Given the description of an element on the screen output the (x, y) to click on. 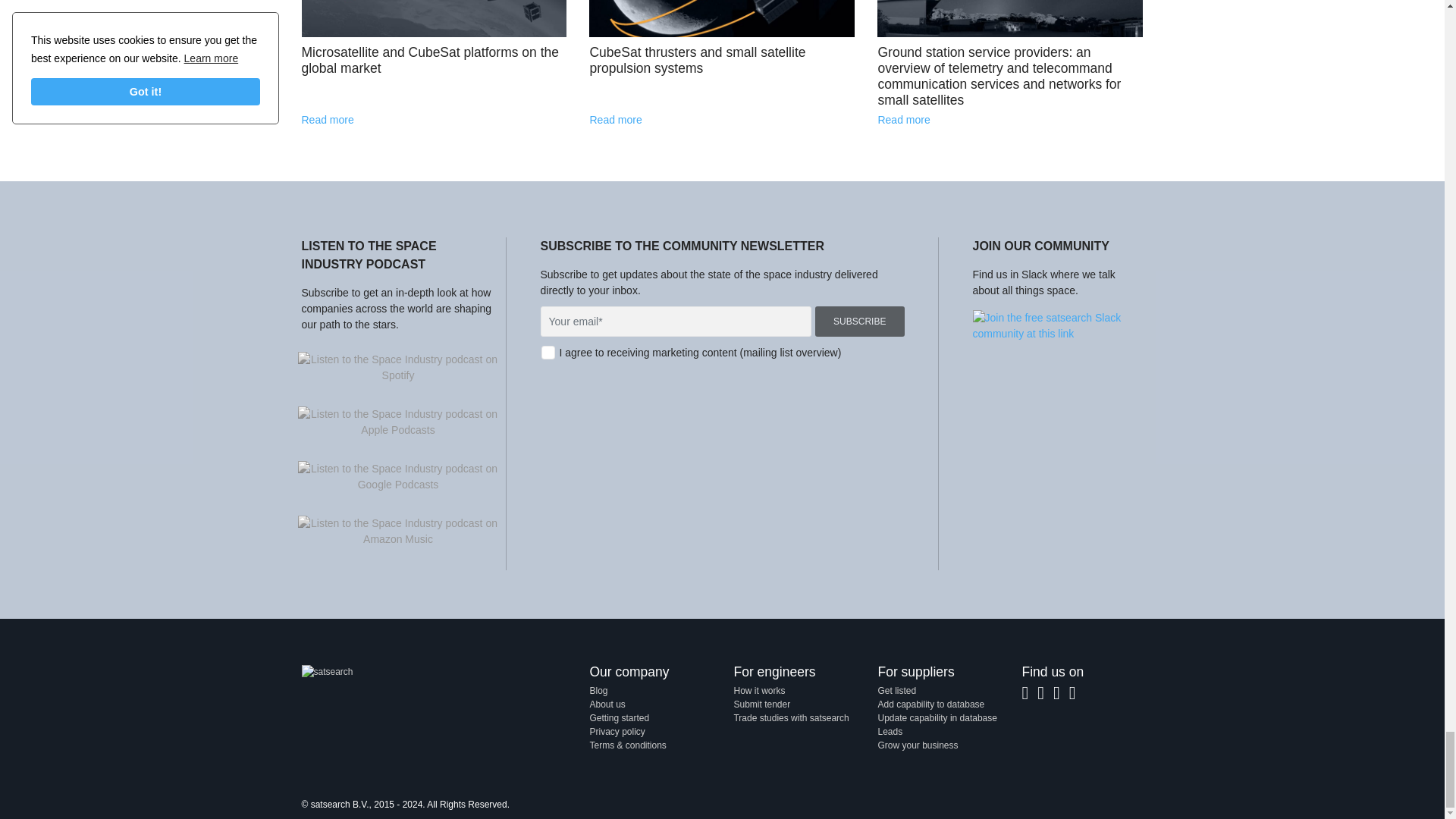
Subscribe (859, 321)
